Given the description of an element on the screen output the (x, y) to click on. 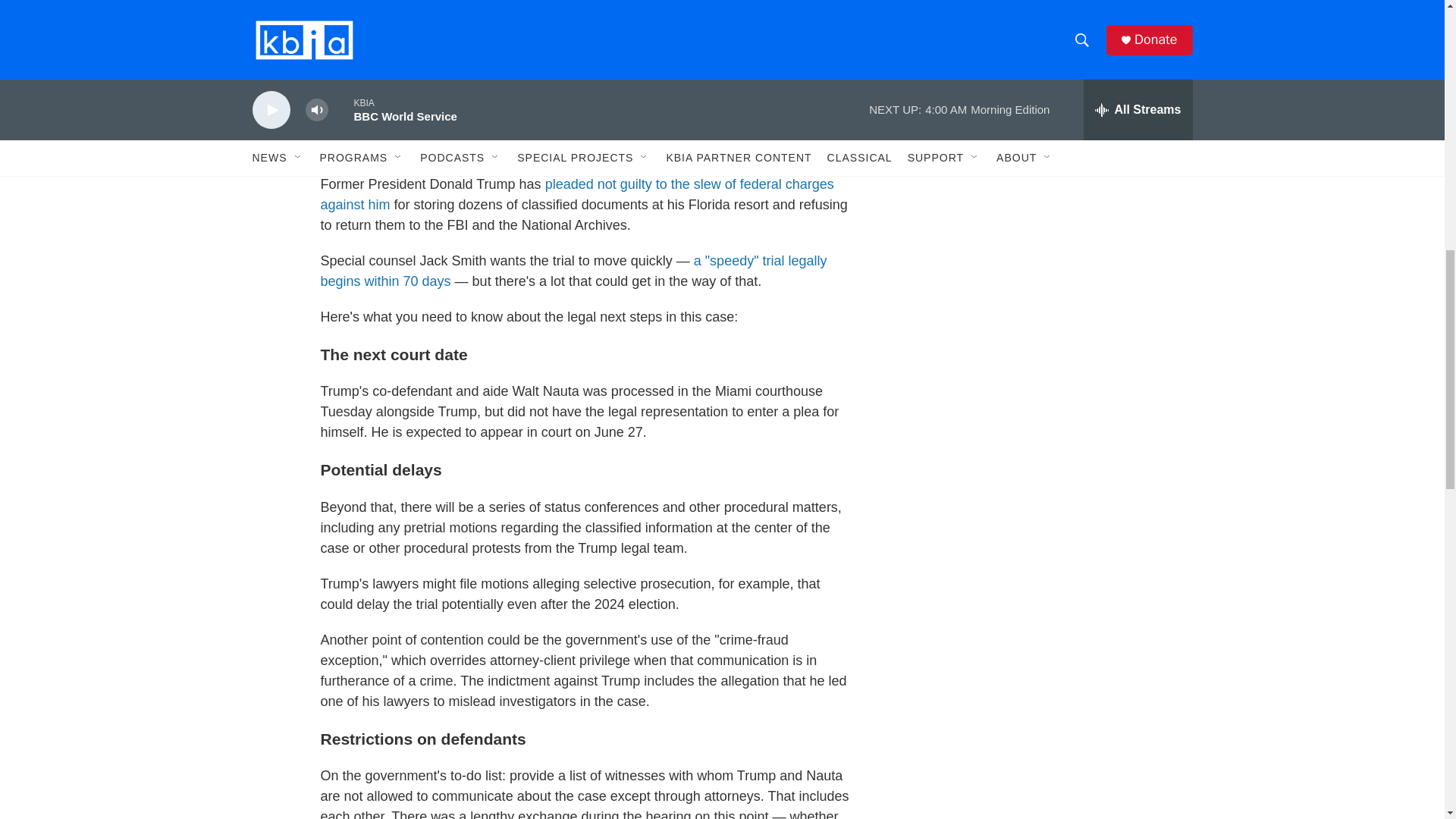
3rd party ad content (1062, 16)
